Given the description of an element on the screen output the (x, y) to click on. 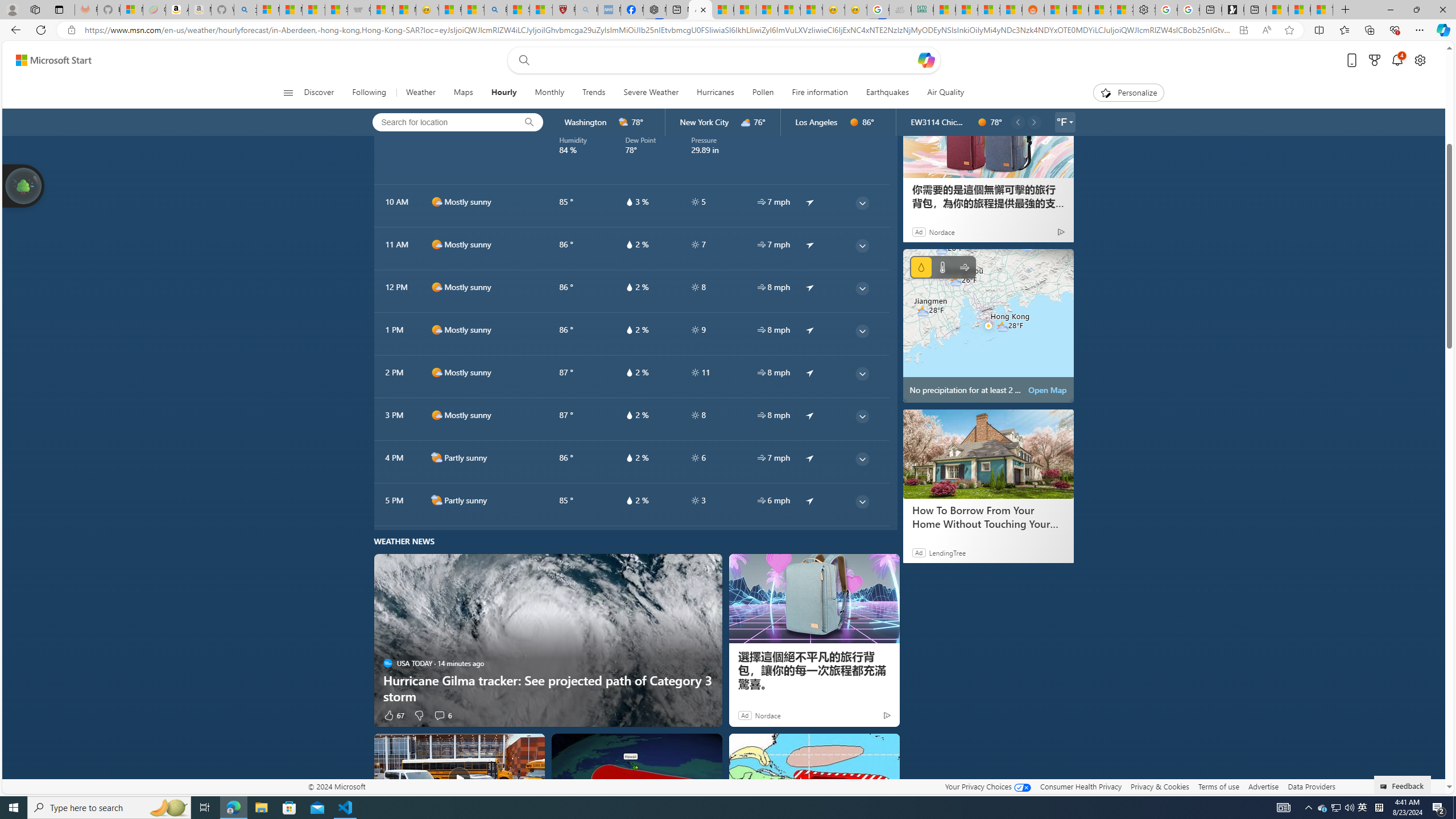
common/thinArrow (861, 501)
Monthly (549, 92)
67 Like (393, 714)
Search for location (440, 122)
Trends (593, 92)
